Given the description of an element on the screen output the (x, y) to click on. 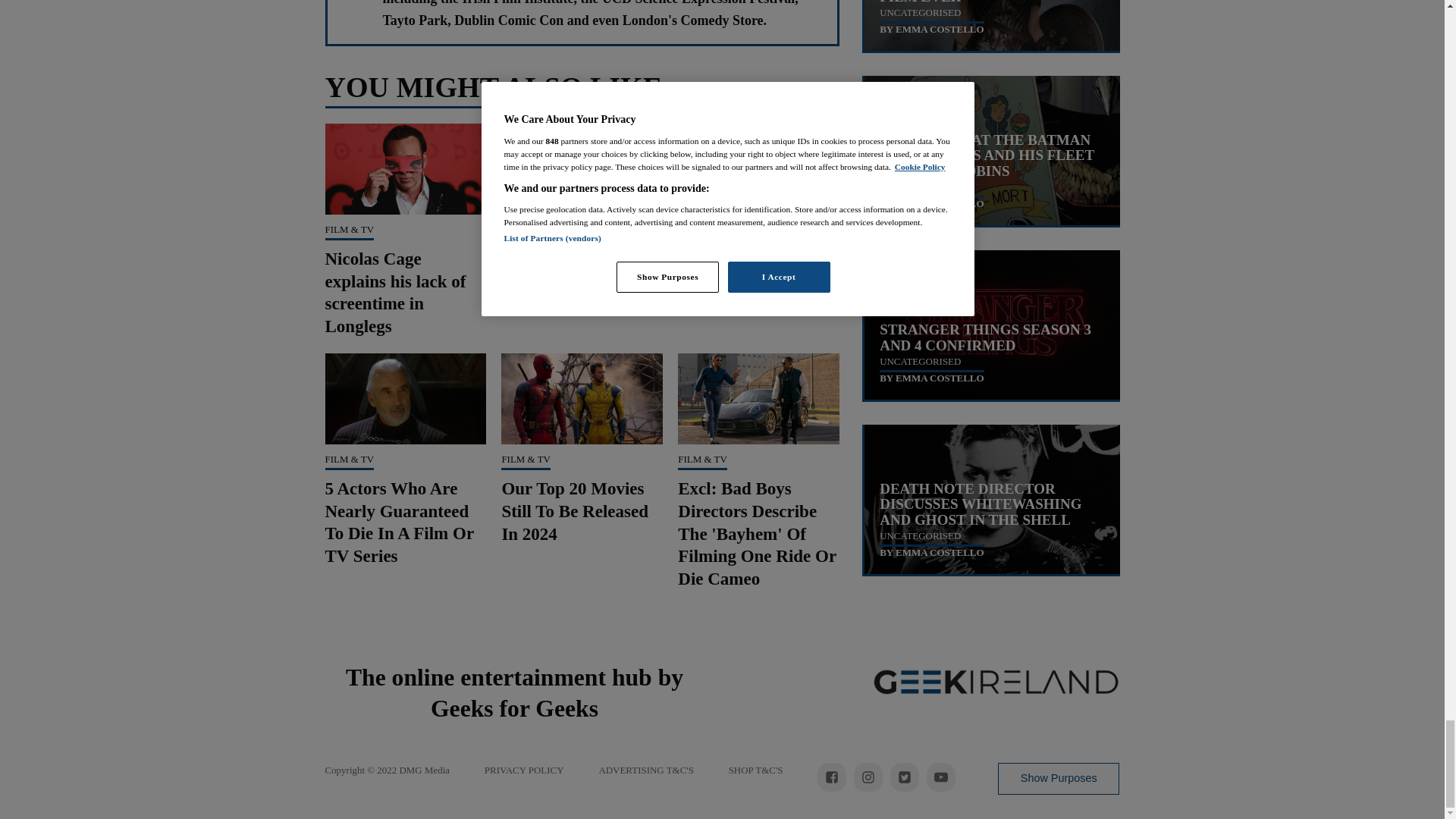
Our Top 20 Movies Still To Be Released In 2024 (573, 511)
Geek Ireland's top picks for Prime Day 2024 (575, 281)
Nicolas Cage explains his lack of screentime in Longlegs (394, 292)
Brendan Gleeson Joins Nicolas Cage In Spider-Noir (758, 281)
